Given the description of an element on the screen output the (x, y) to click on. 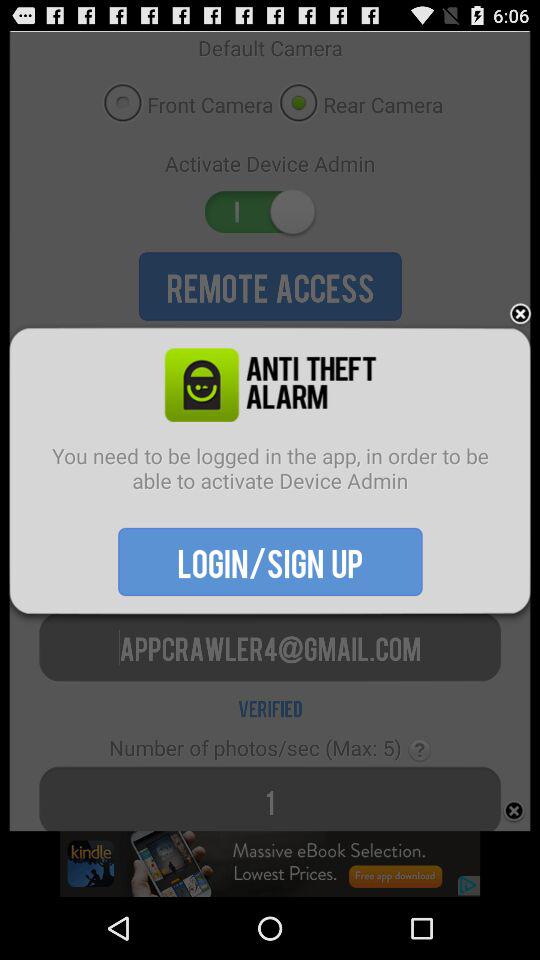
select the item above the you need to (520, 314)
